Given the description of an element on the screen output the (x, y) to click on. 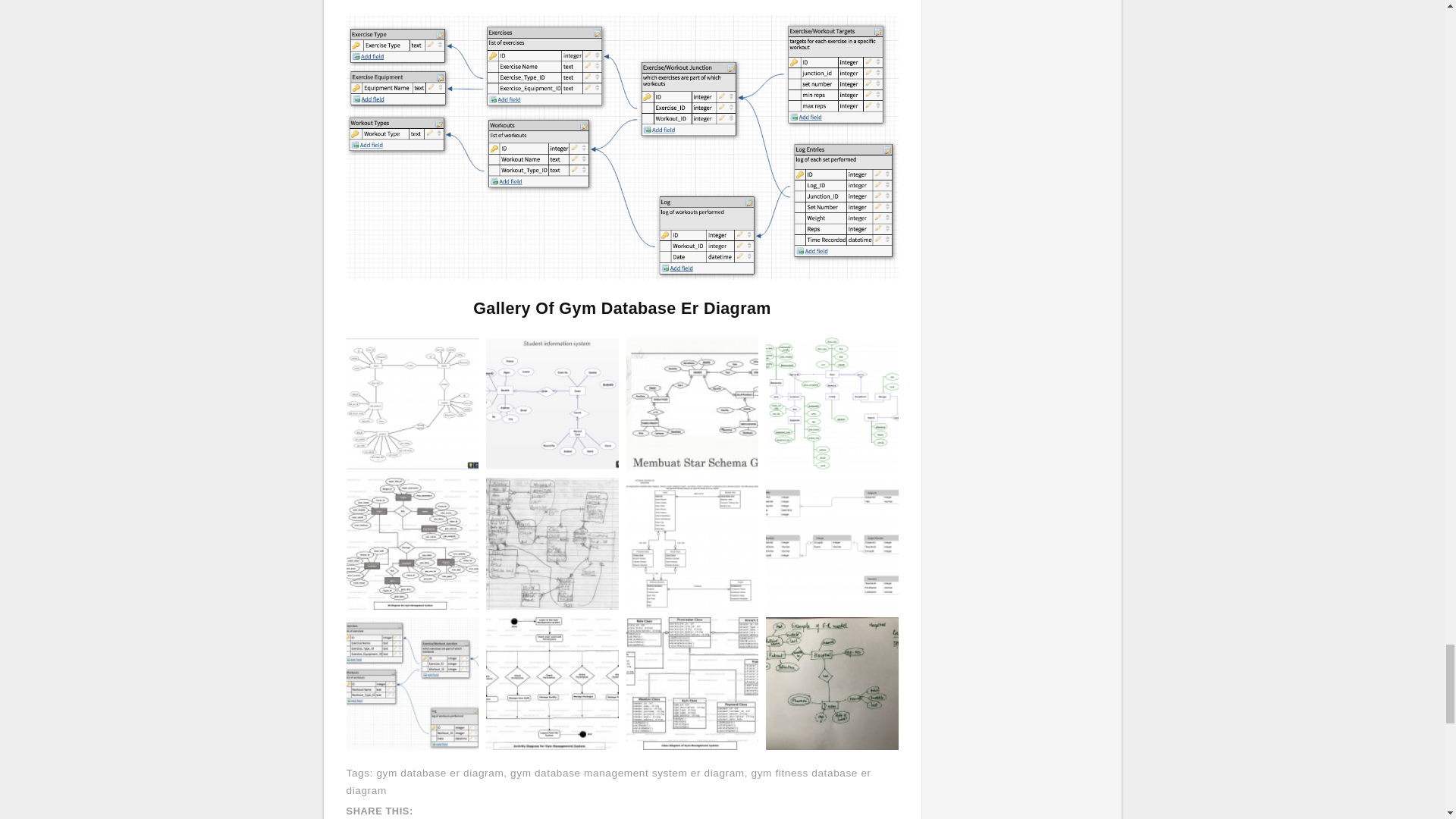
Fitness Center Er The Organization Modeled Below D (692, 542)
New Gym Management Program With Attributes Described On Er (831, 403)
gym database er diagram (439, 772)
New Gym Management Program With Attributes Described On Er (831, 402)
Entity Relationship Diagram Example For Auctioning System (412, 402)
Kcb E 5212100040 Star Schema Gym Fitness   Youtube (692, 402)
gym fitness database er diagram (608, 781)
Entity Relationship Diagram For Student Information System (552, 403)
Kcb E 5212100040 Star Schema Gym Fitness   Youtube (692, 403)
Entity Relationship Diagram For Student Information System (552, 402)
Entity Relationship Diagram Example For Auctioning System (412, 403)
gym database management system er diagram (627, 772)
Fitness Center Er The Organization Modeled Below D (692, 543)
